Given the description of an element on the screen output the (x, y) to click on. 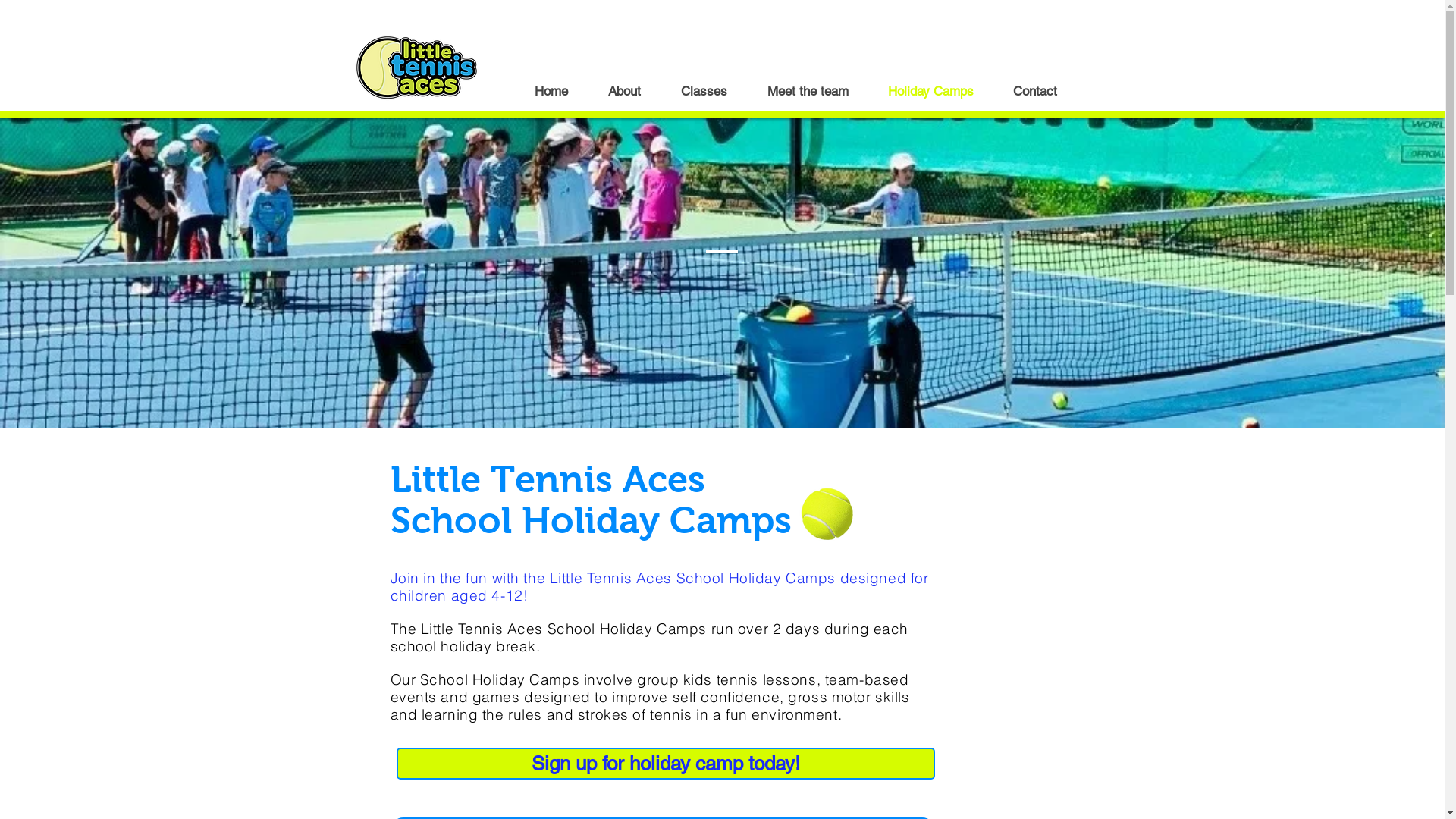
Sign up for holiday camp today! Element type: text (664, 763)
Meet the team Element type: text (807, 90)
Classes Element type: text (704, 90)
Home Element type: text (550, 90)
Holiday Camps Element type: text (929, 90)
Contact Element type: text (1034, 90)
About Element type: text (624, 90)
